Given the description of an element on the screen output the (x, y) to click on. 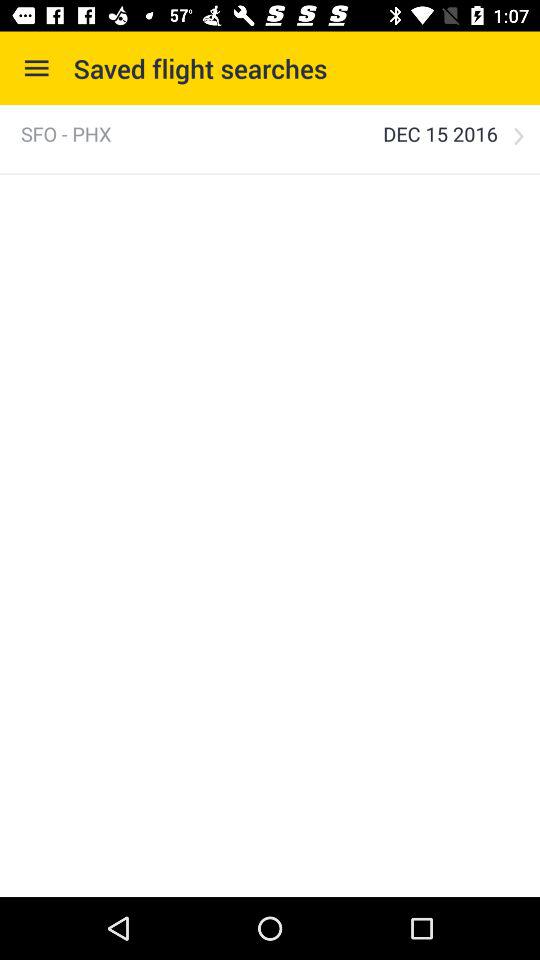
open the icon next to sfo - phx item (440, 133)
